Given the description of an element on the screen output the (x, y) to click on. 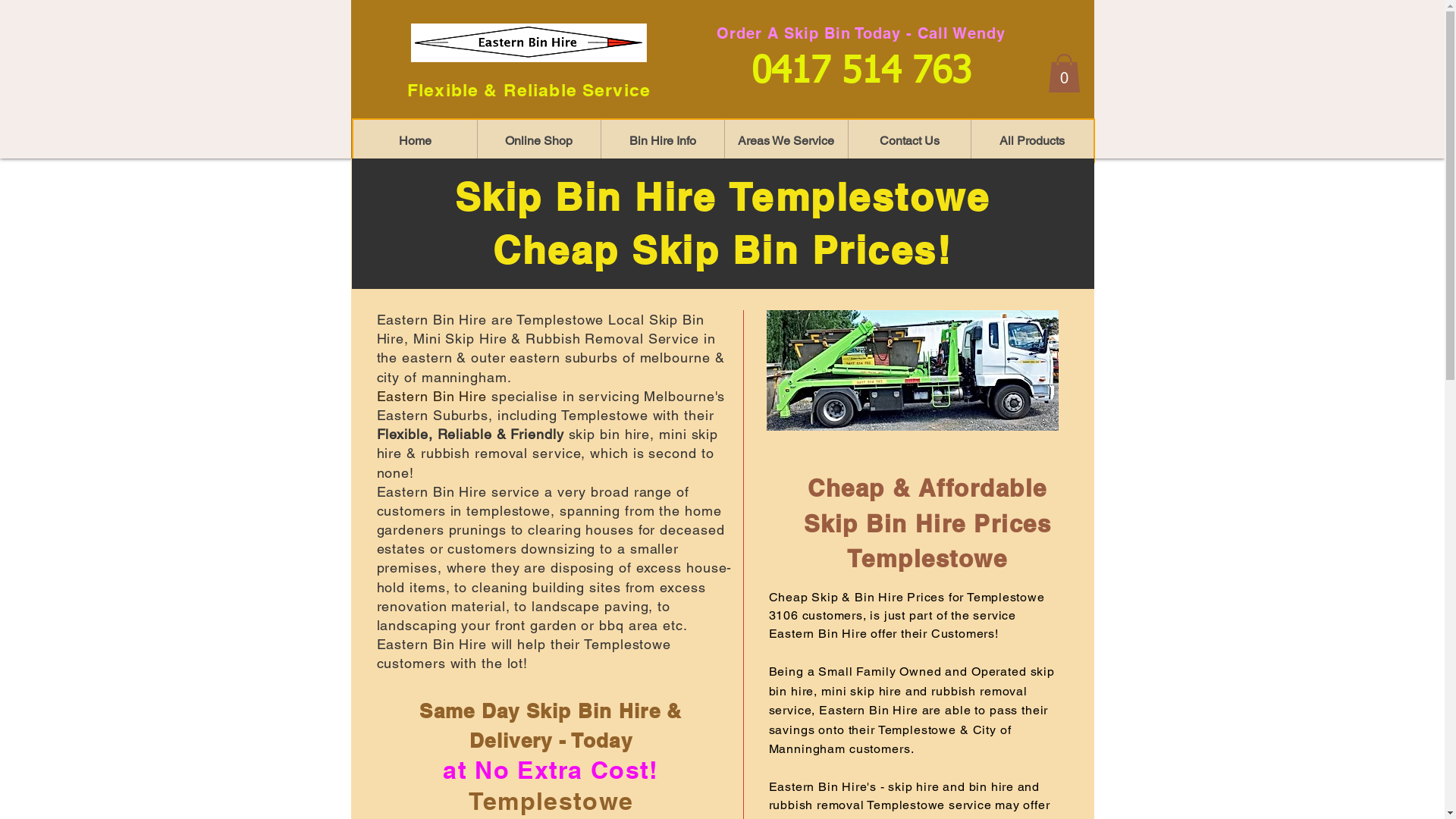
Skip Bin Hire Element type: text (539, 328)
Home Element type: text (414, 140)
Rubbish Removal Element type: text (584, 338)
Mini Skip Hire Element type: text (460, 338)
Areas We Service Element type: text (785, 140)
Contact Us Element type: text (908, 140)
Online Shop Element type: text (537, 140)
Templestowe Element type: text (559, 319)
Bin Hire Info Element type: text (662, 140)
0 Element type: text (1064, 72)
All Products Element type: text (1031, 140)
Eastern Bin Hire Element type: text (431, 396)
